Given the description of an element on the screen output the (x, y) to click on. 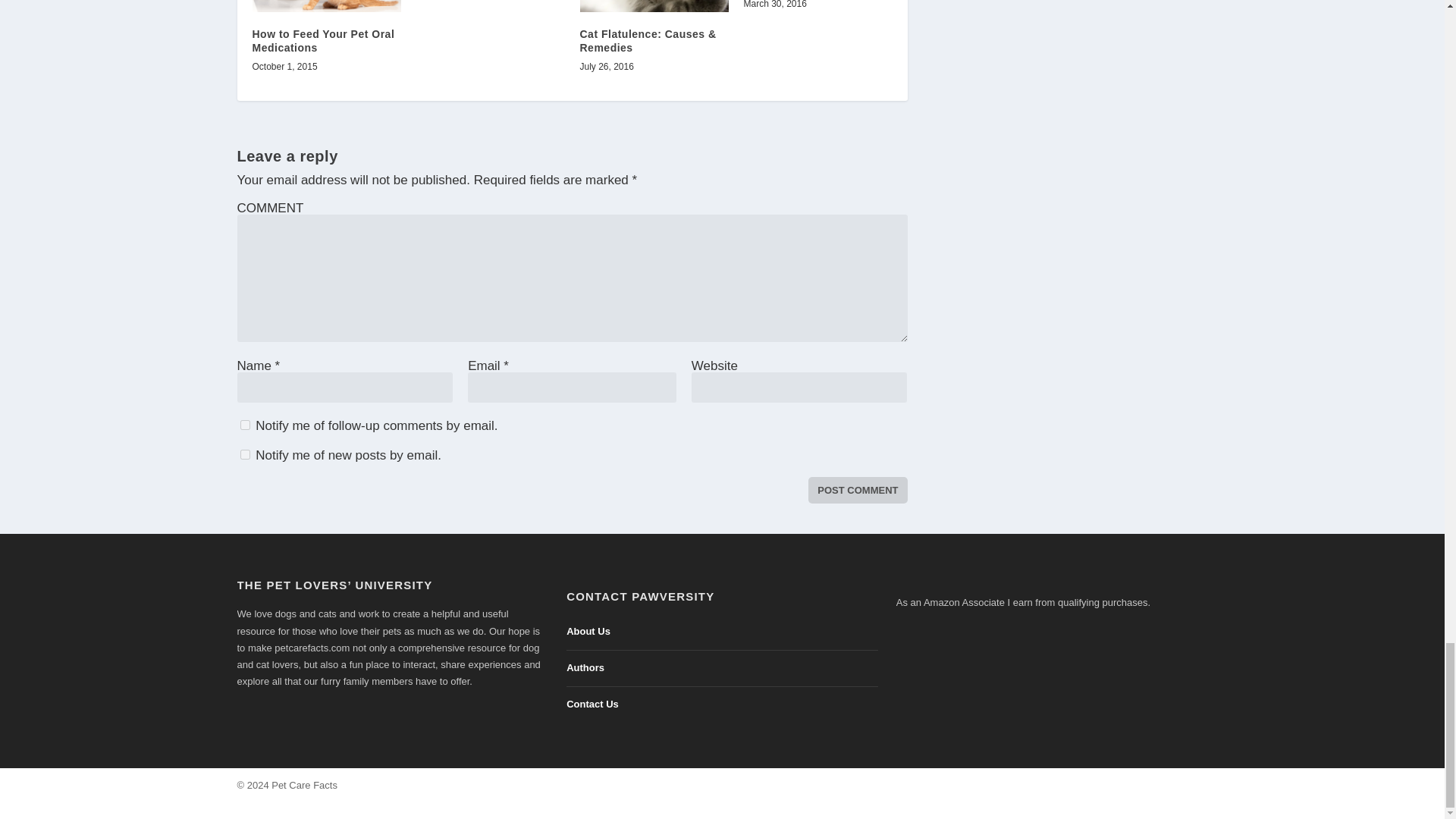
subscribe (244, 424)
Post Comment (857, 489)
subscribe (244, 454)
Post Comment (857, 489)
How to Feed Your Pet Oral Medications (325, 6)
How to Feed Your Pet Oral Medications (322, 40)
